Given the description of an element on the screen output the (x, y) to click on. 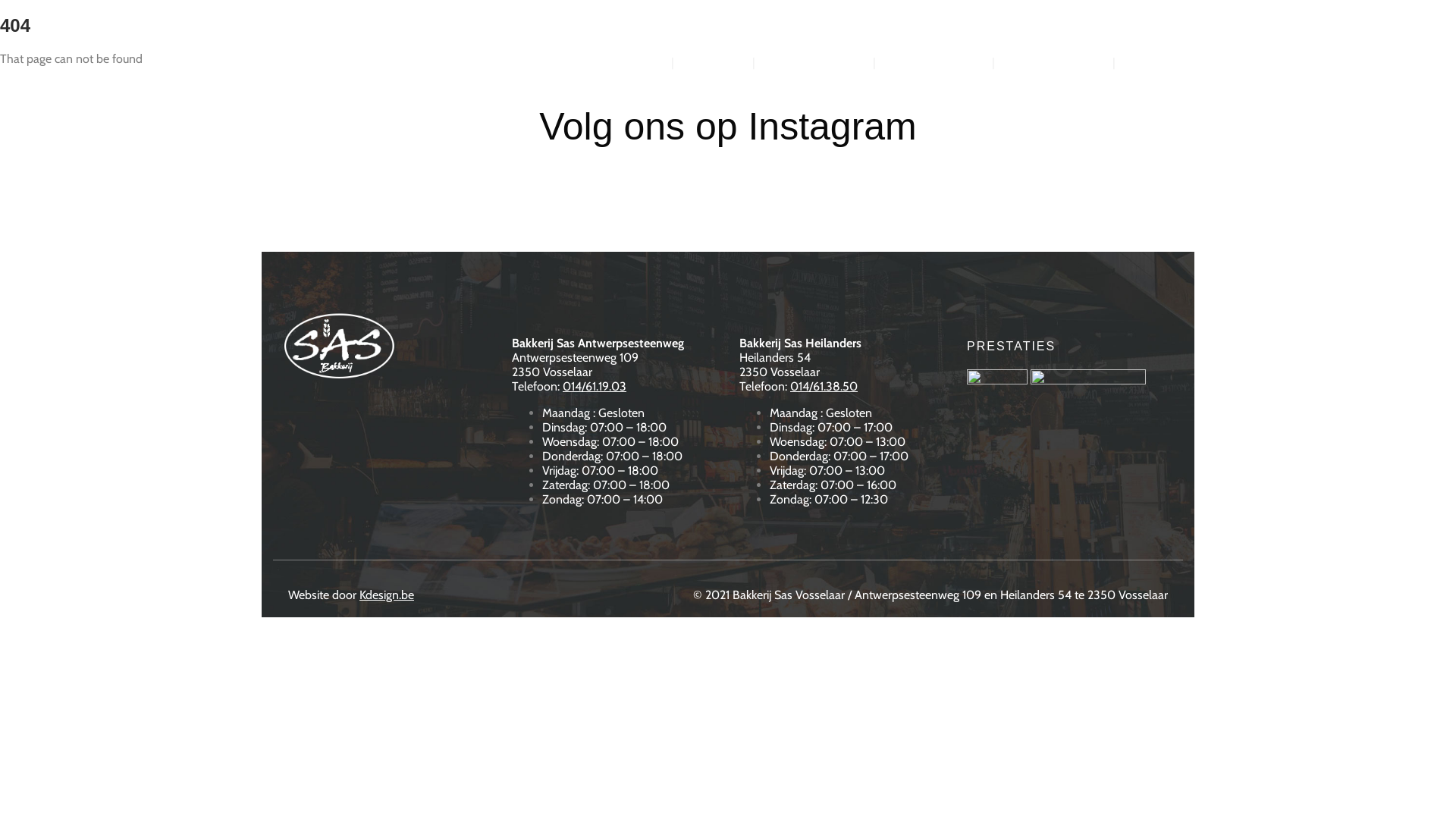
Welkom Element type: text (635, 62)
Nieuws & Acties Element type: text (935, 62)
Ons Assortiment Element type: text (1053, 62)
014/61.19.03 Element type: text (594, 386)
014/61.38.50 Element type: text (823, 386)
Contact Element type: text (1152, 62)
Over ons Element type: text (714, 62)
Kdesign.be Element type: text (386, 594)
Online Bestellen Element type: text (813, 62)
